Given the description of an element on the screen output the (x, y) to click on. 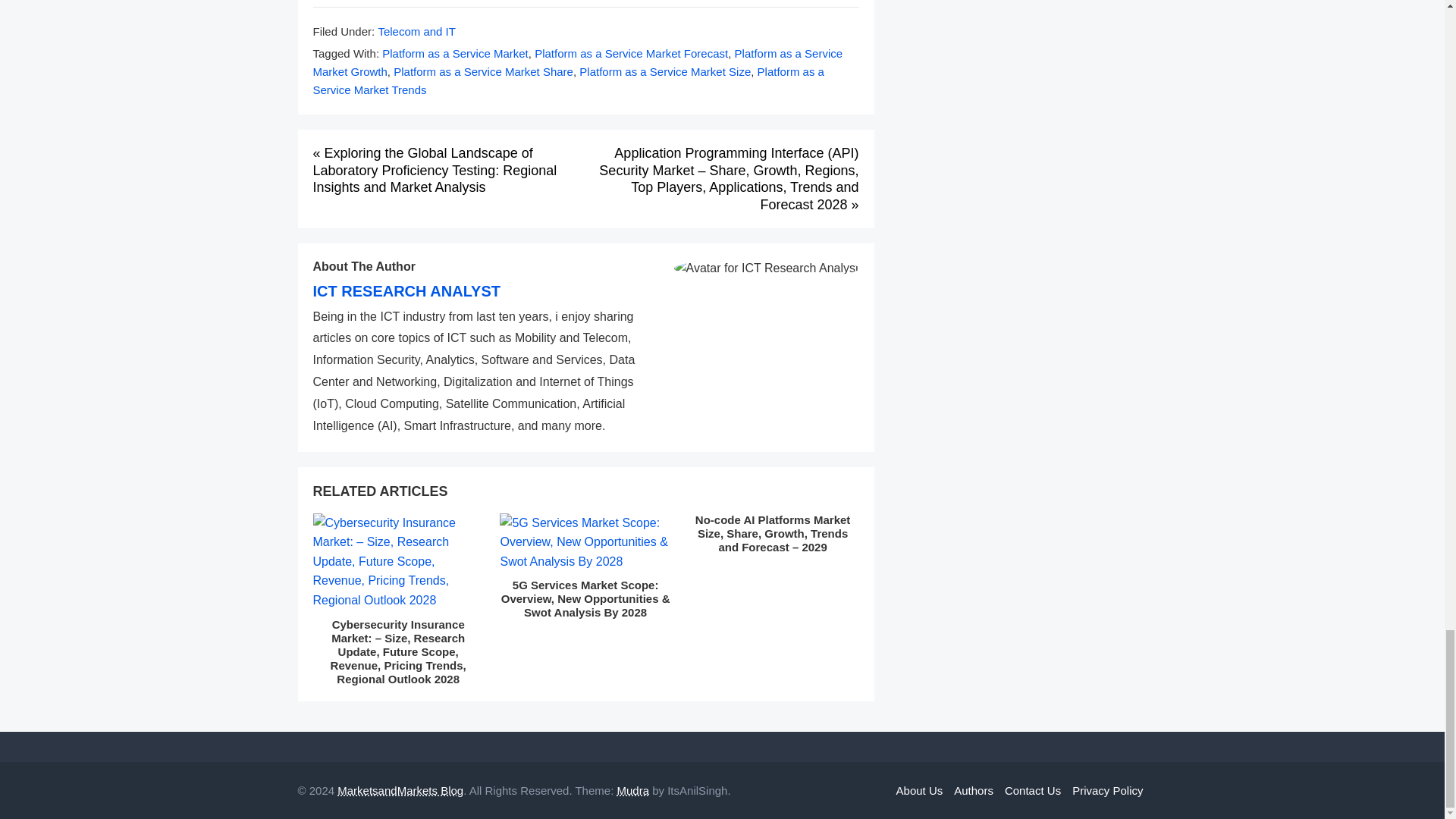
MarketsandMarkets Blog (400, 789)
Gravatar for ICT Research Analyst (766, 268)
Mudra (632, 789)
